Given the description of an element on the screen output the (x, y) to click on. 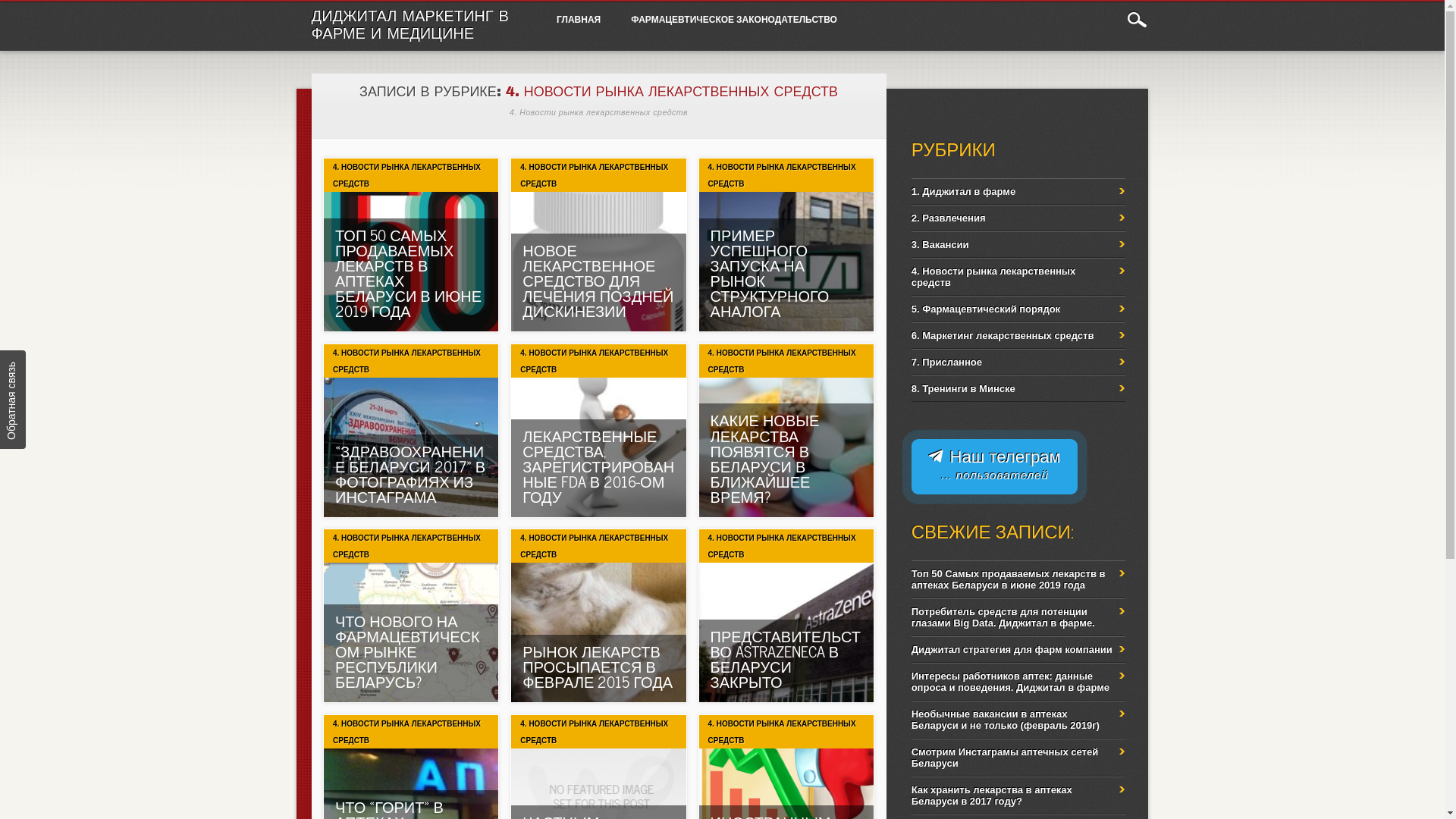
Skip to content Element type: text (576, 9)
